Given the description of an element on the screen output the (x, y) to click on. 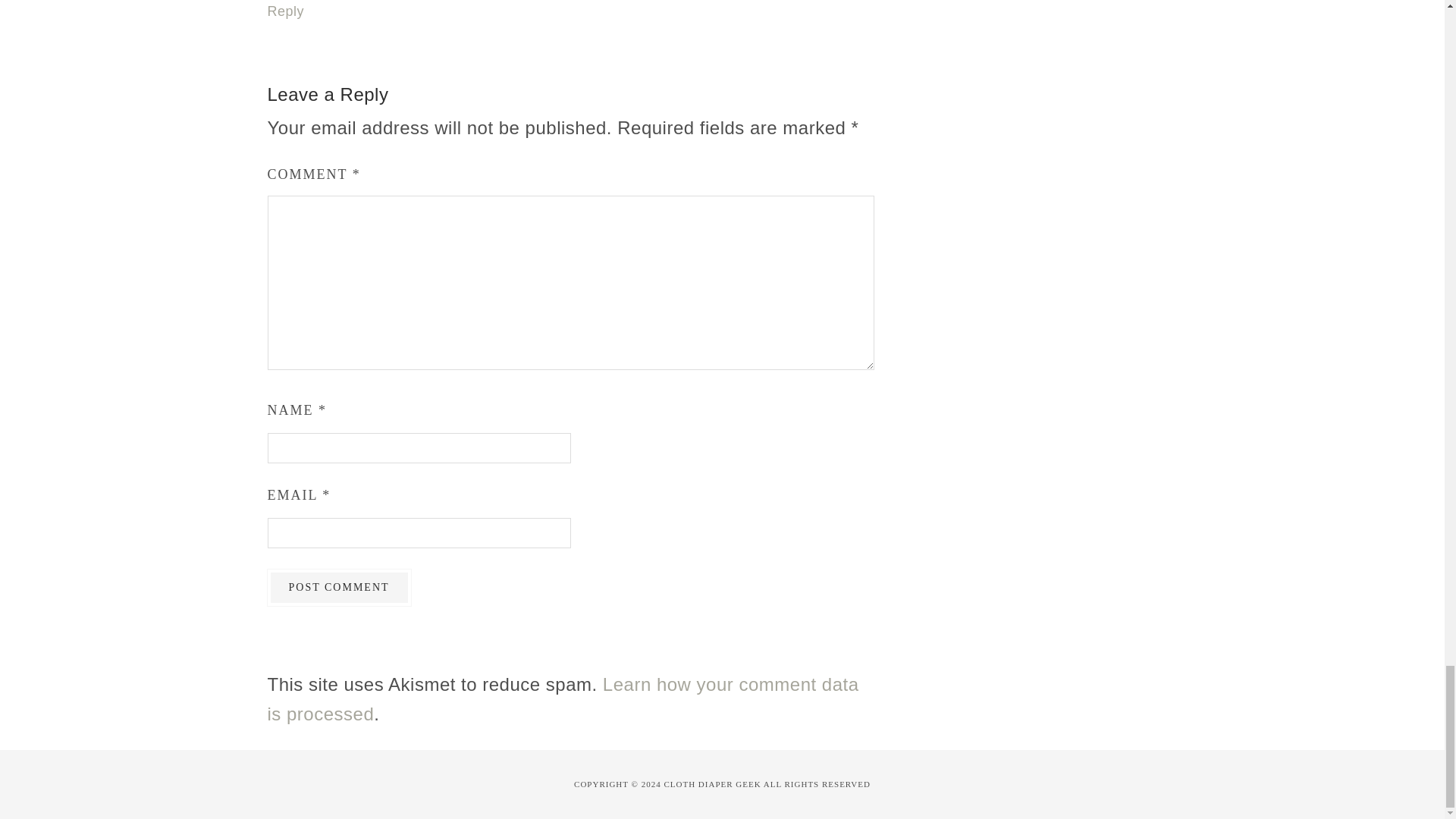
Post Comment (338, 587)
Post Comment (338, 587)
Learn how your comment data is processed (562, 698)
Reply (285, 11)
